Given the description of an element on the screen output the (x, y) to click on. 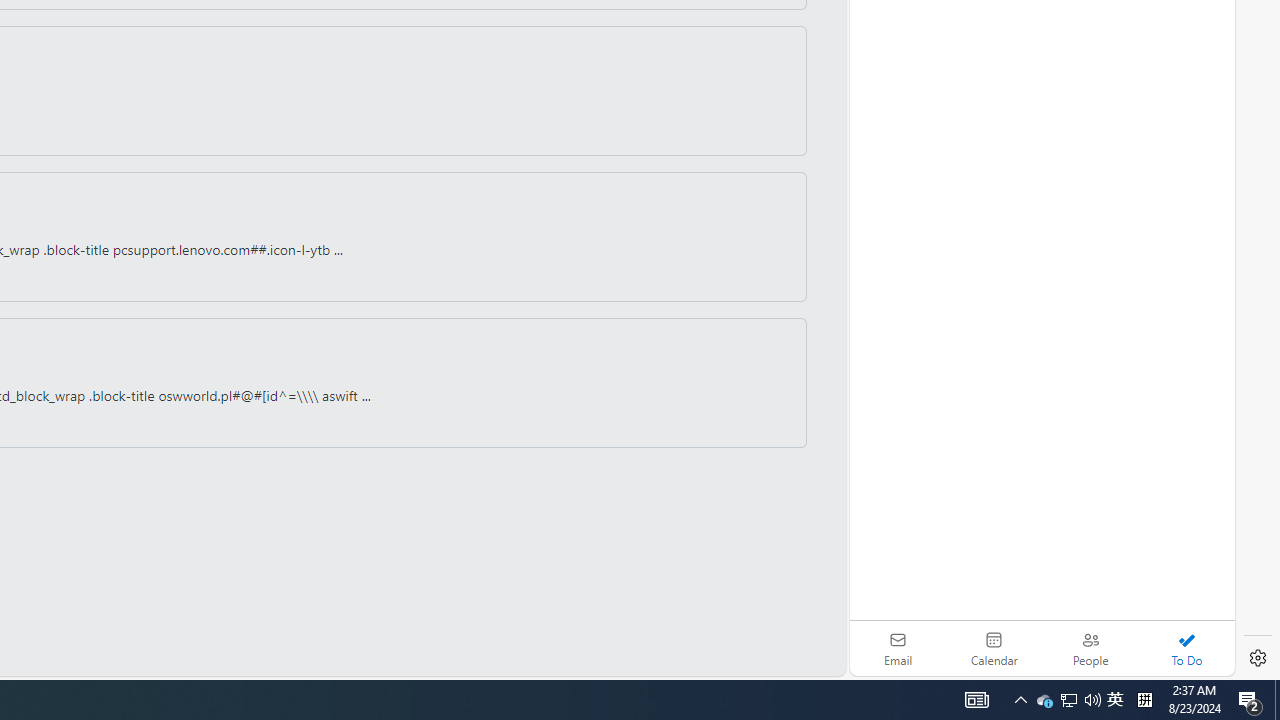
Calendar. Date today is 22 (994, 648)
People (1090, 648)
Email (898, 648)
To Do (1186, 648)
